Given the description of an element on the screen output the (x, y) to click on. 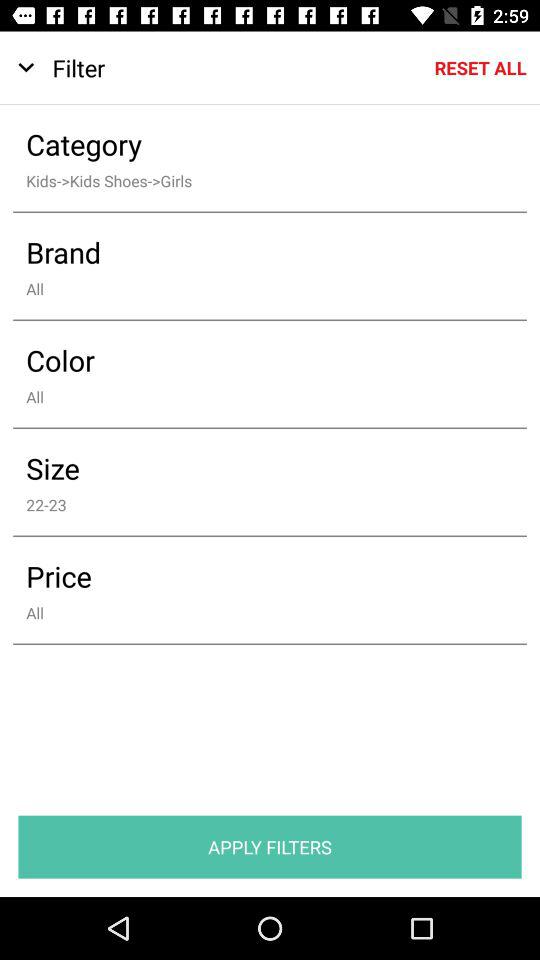
open icon to the left of filter item (26, 67)
